Given the description of an element on the screen output the (x, y) to click on. 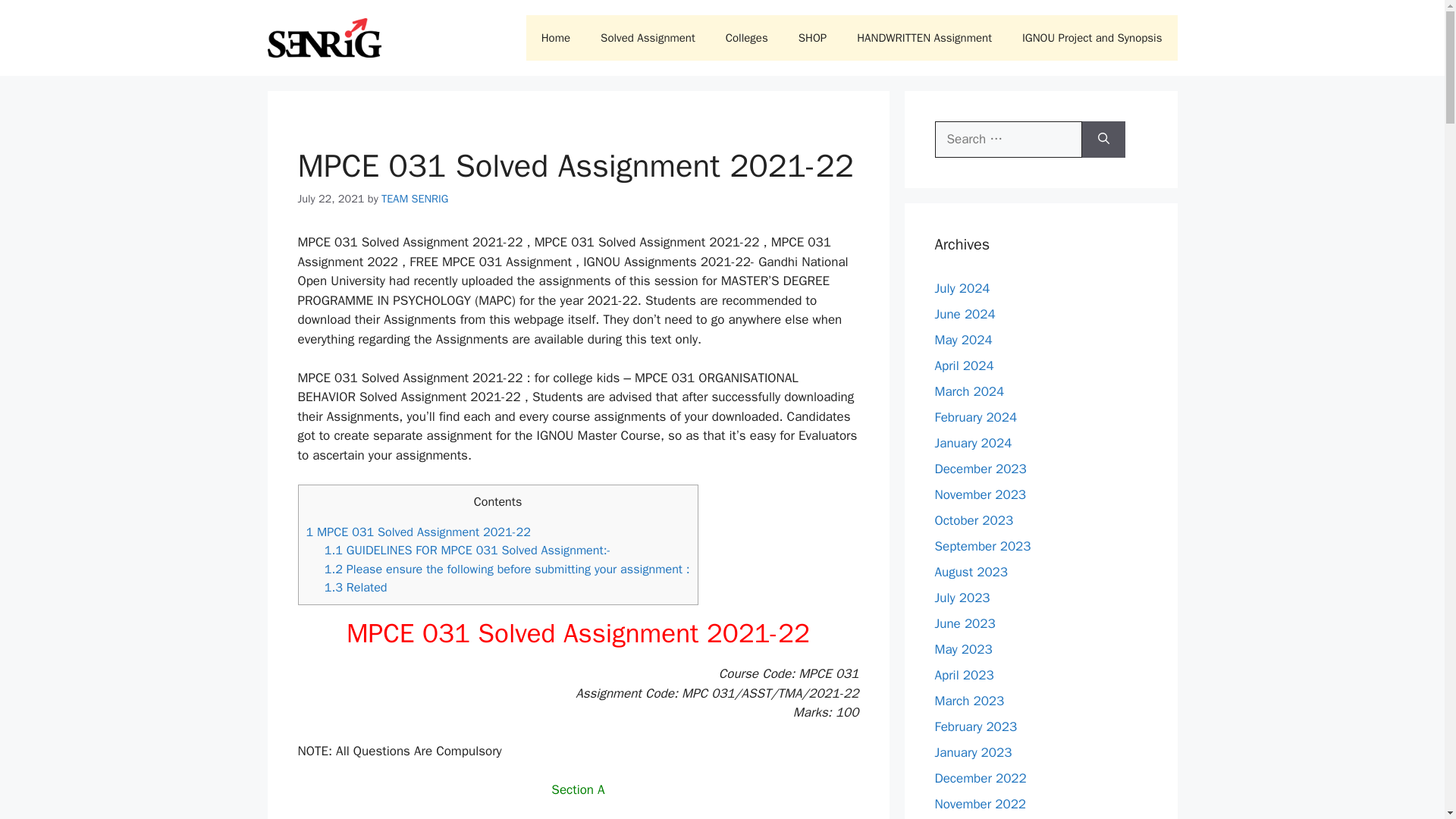
June 2024 (964, 314)
1.3 Related (355, 587)
IGNOU Project and Synopsis (1092, 37)
Search for: (1007, 139)
September 2023 (982, 546)
SHOP (812, 37)
1.1 GUIDELINES FOR MPCE 031 Solved Assignment:- (467, 549)
May 2024 (962, 340)
Home (555, 37)
Colleges (746, 37)
November 2023 (980, 494)
1 MPCE 031 Solved Assignment 2021-22 (418, 531)
HANDWRITTEN Assignment (924, 37)
December 2023 (980, 468)
